Given the description of an element on the screen output the (x, y) to click on. 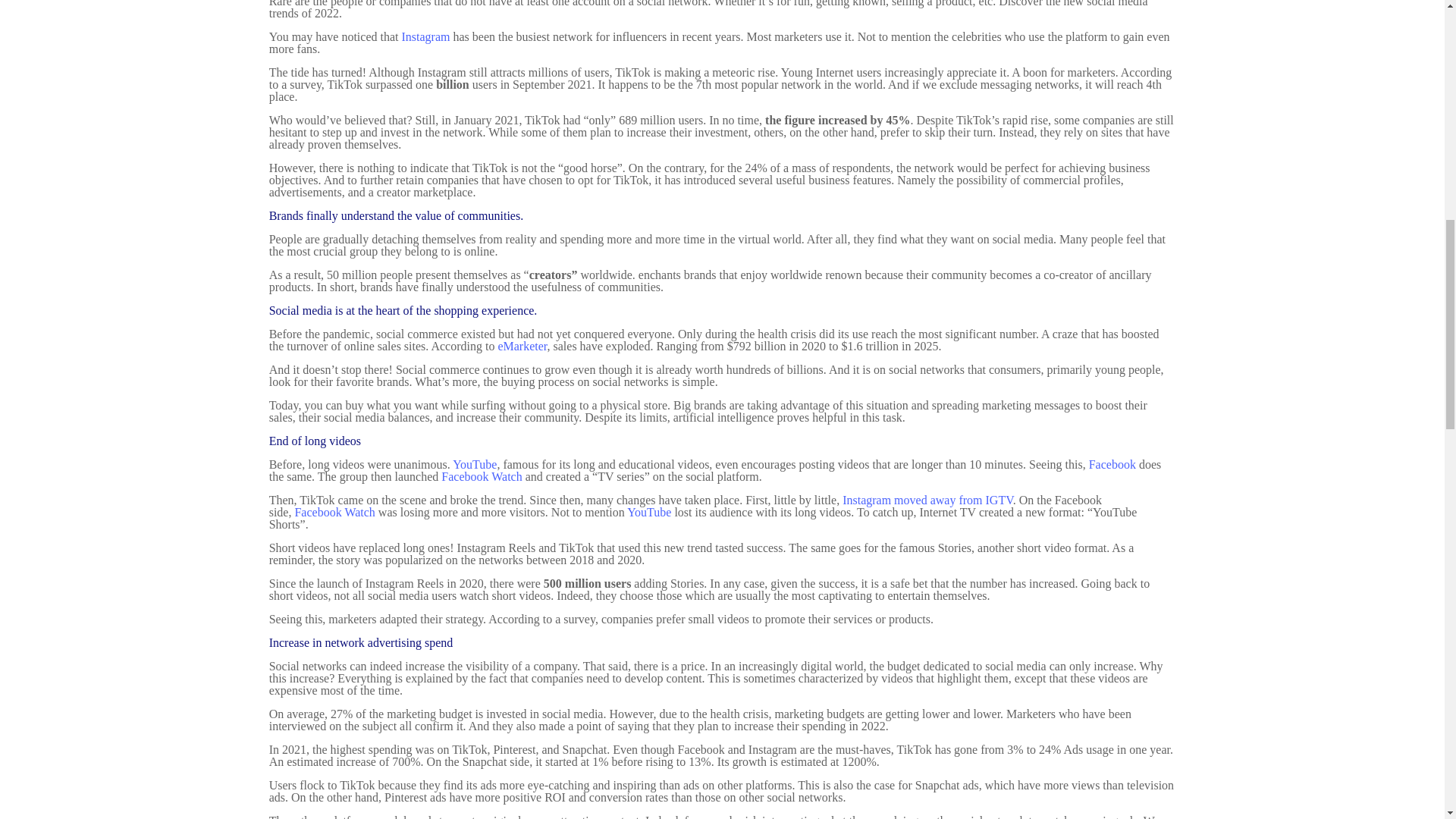
Facebook (1112, 463)
Facebook Watch (481, 476)
YouTube (649, 512)
Instagram moved away from IGTV (928, 499)
eMarketer (522, 345)
Facebook Watch (334, 512)
Instagram (425, 36)
YouTube (474, 463)
